Given the description of an element on the screen output the (x, y) to click on. 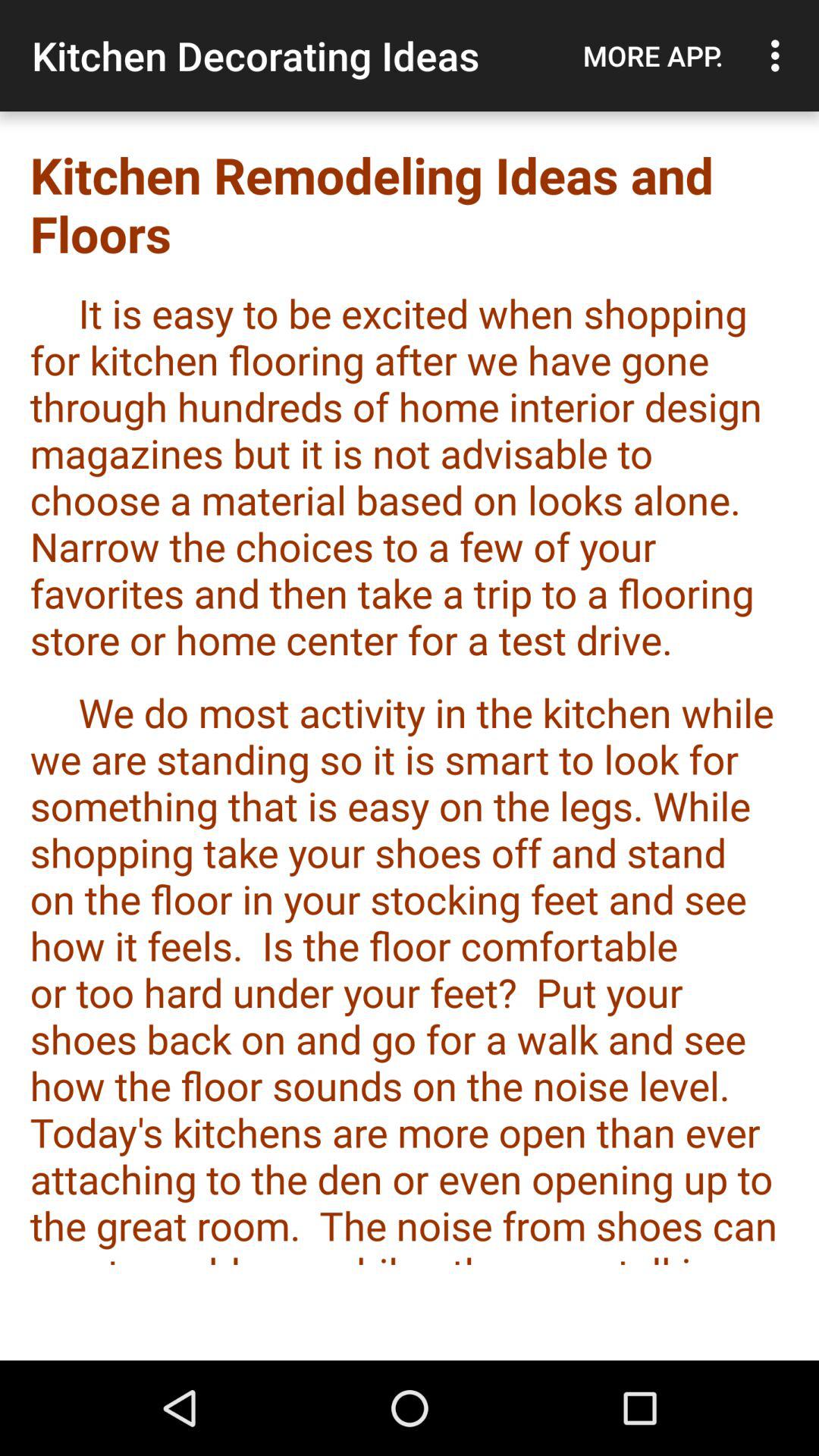
flip until more app. (653, 55)
